Given the description of an element on the screen output the (x, y) to click on. 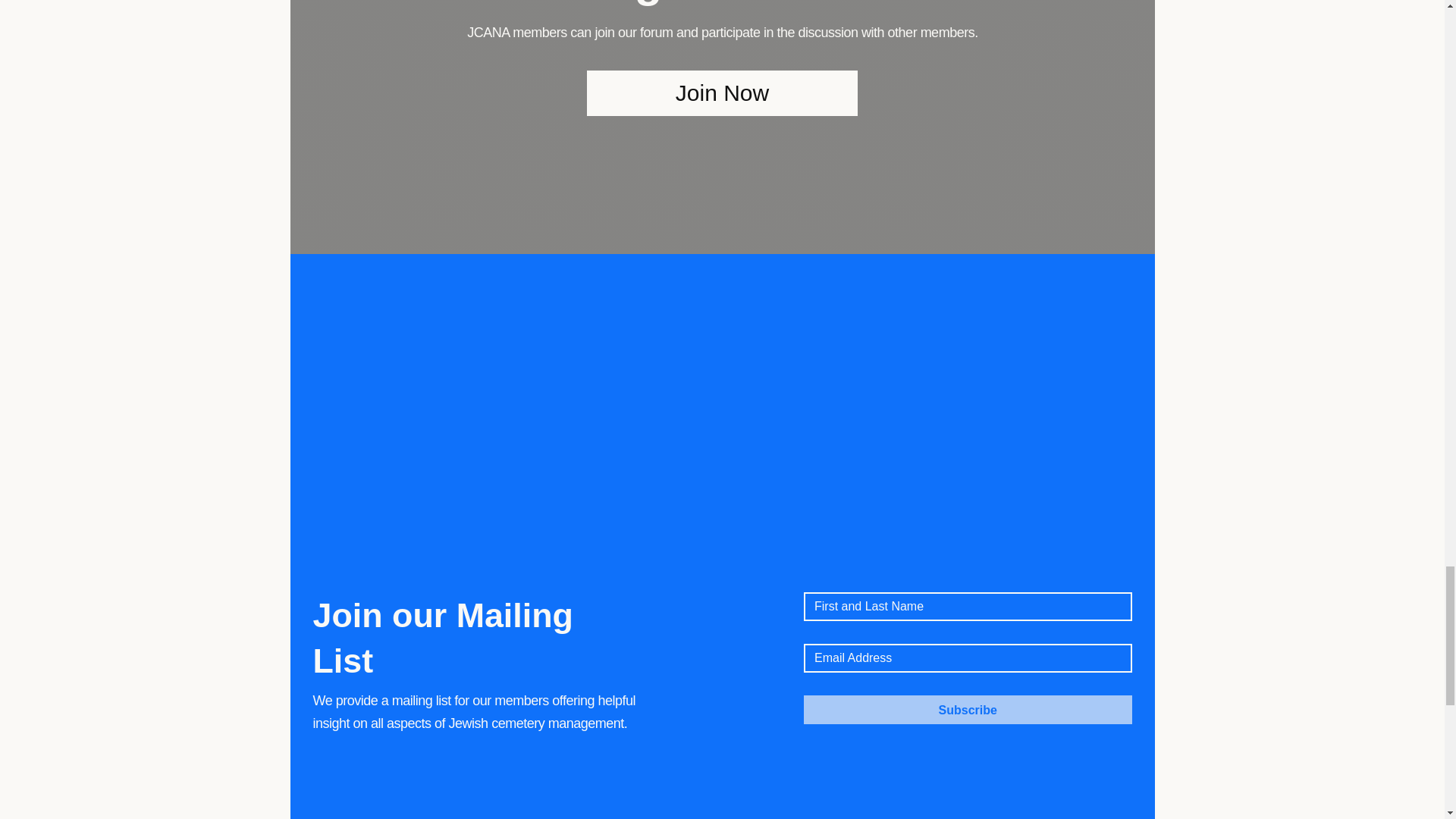
Join Now (721, 92)
Subscribe (967, 709)
Subscribe (967, 709)
